Given the description of an element on the screen output the (x, y) to click on. 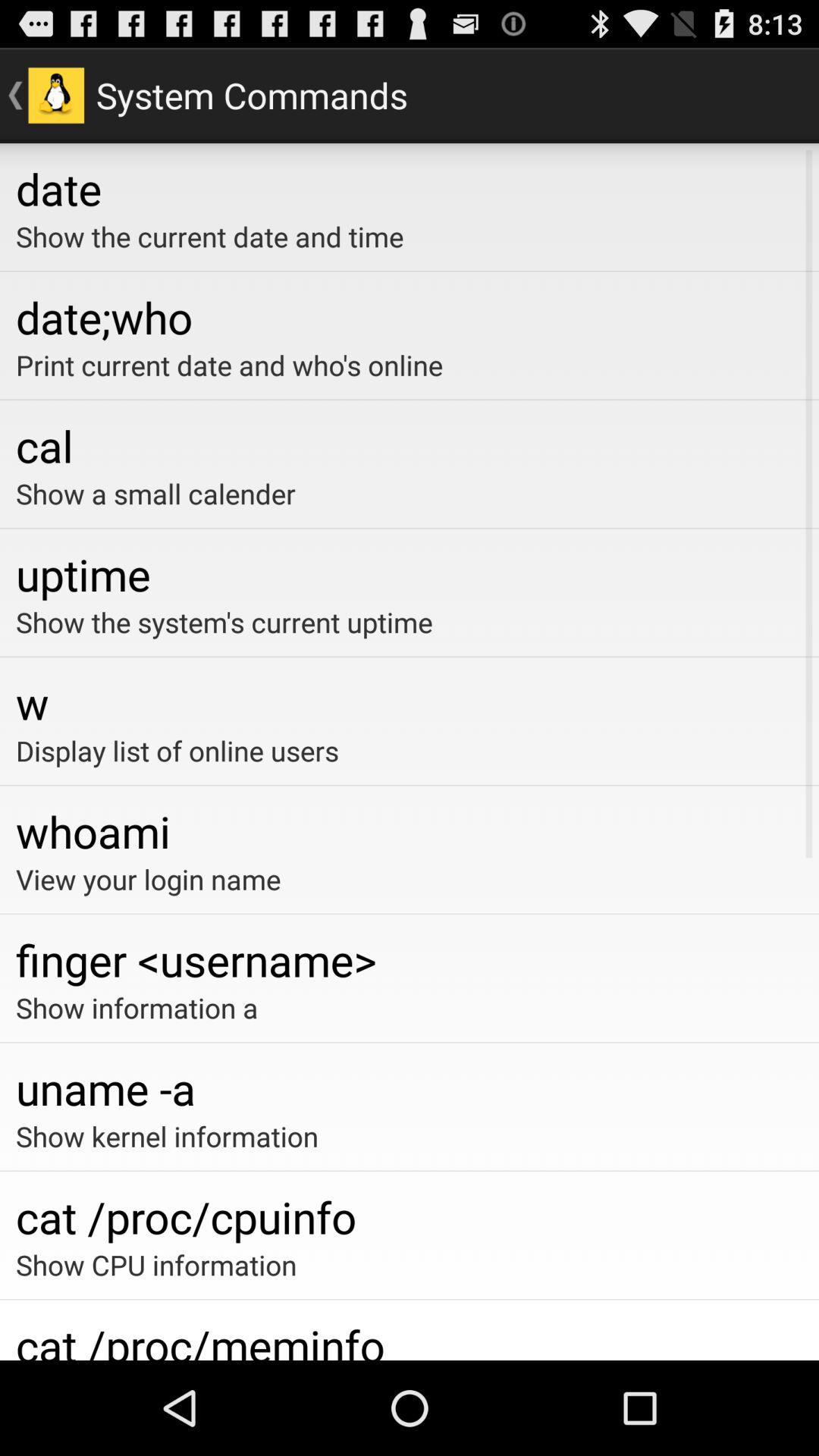
scroll to whoami icon (409, 830)
